Given the description of an element on the screen output the (x, y) to click on. 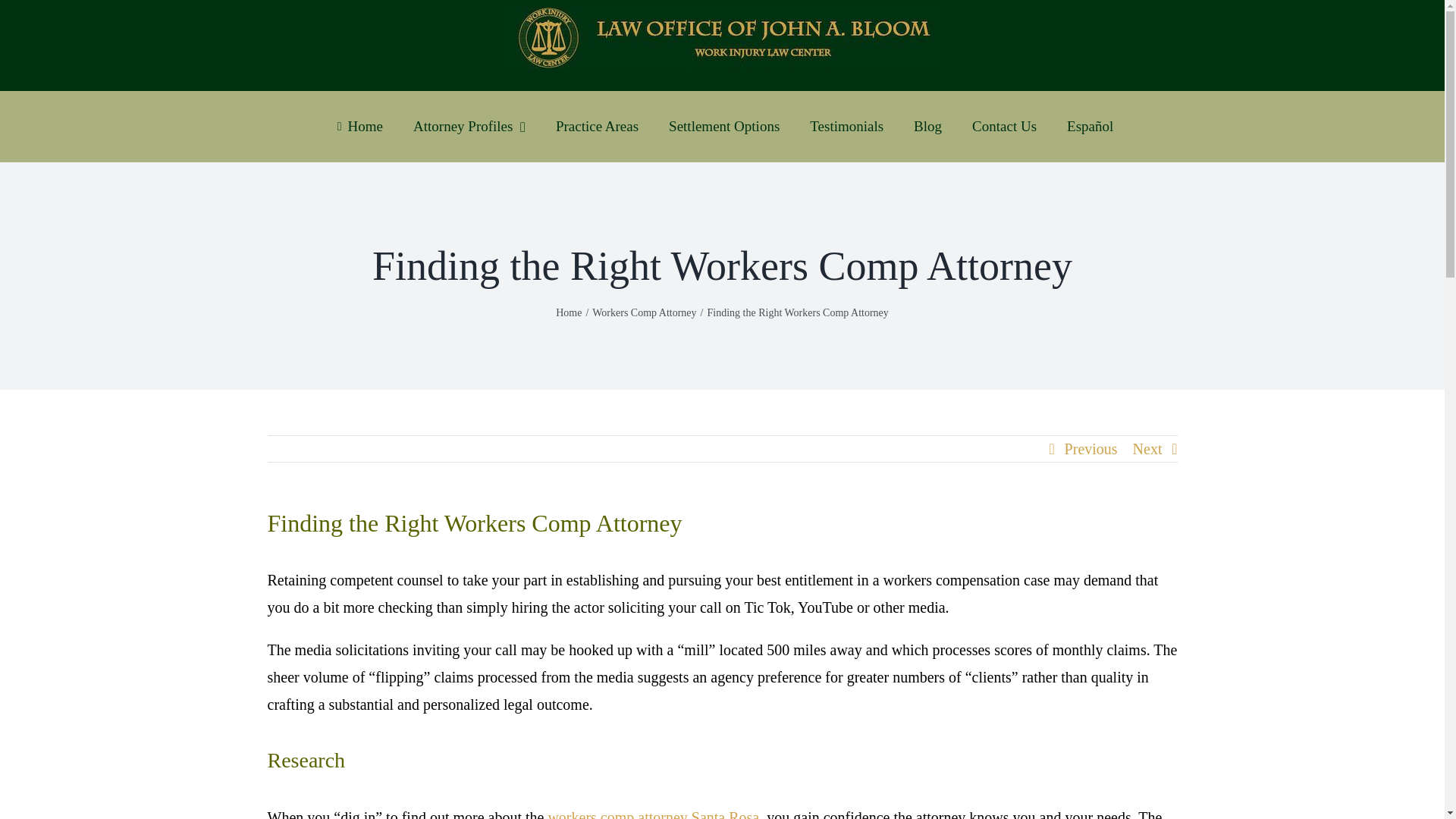
Previous (1091, 448)
Workers Comp Attorney (643, 312)
Practice Areas (596, 126)
Contact Us (1003, 126)
Home (356, 126)
Attorney Profiles (468, 126)
Home (568, 312)
Settlement Options (723, 126)
Testimonials (846, 126)
Next (1146, 448)
